Given the description of an element on the screen output the (x, y) to click on. 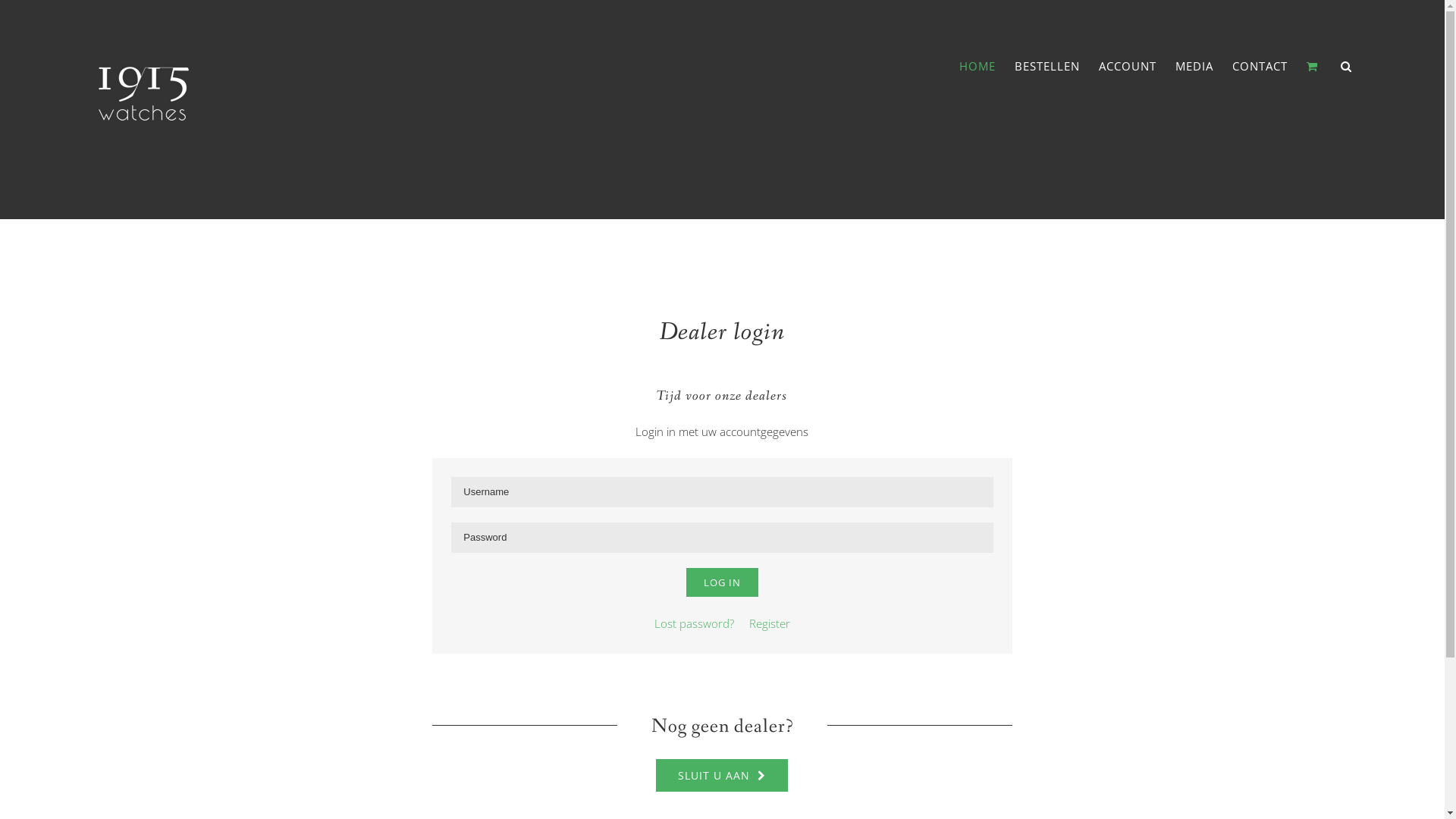
ACCOUNT Element type: text (1127, 65)
SLUIT U AAN Element type: text (721, 775)
CONTACT Element type: text (1259, 65)
MEDIA Element type: text (1194, 65)
Register Element type: text (769, 622)
Lost password? Element type: text (693, 622)
LOG IN Element type: text (722, 581)
HOME Element type: text (977, 65)
BESTELLEN Element type: text (1046, 65)
